Given the description of an element on the screen output the (x, y) to click on. 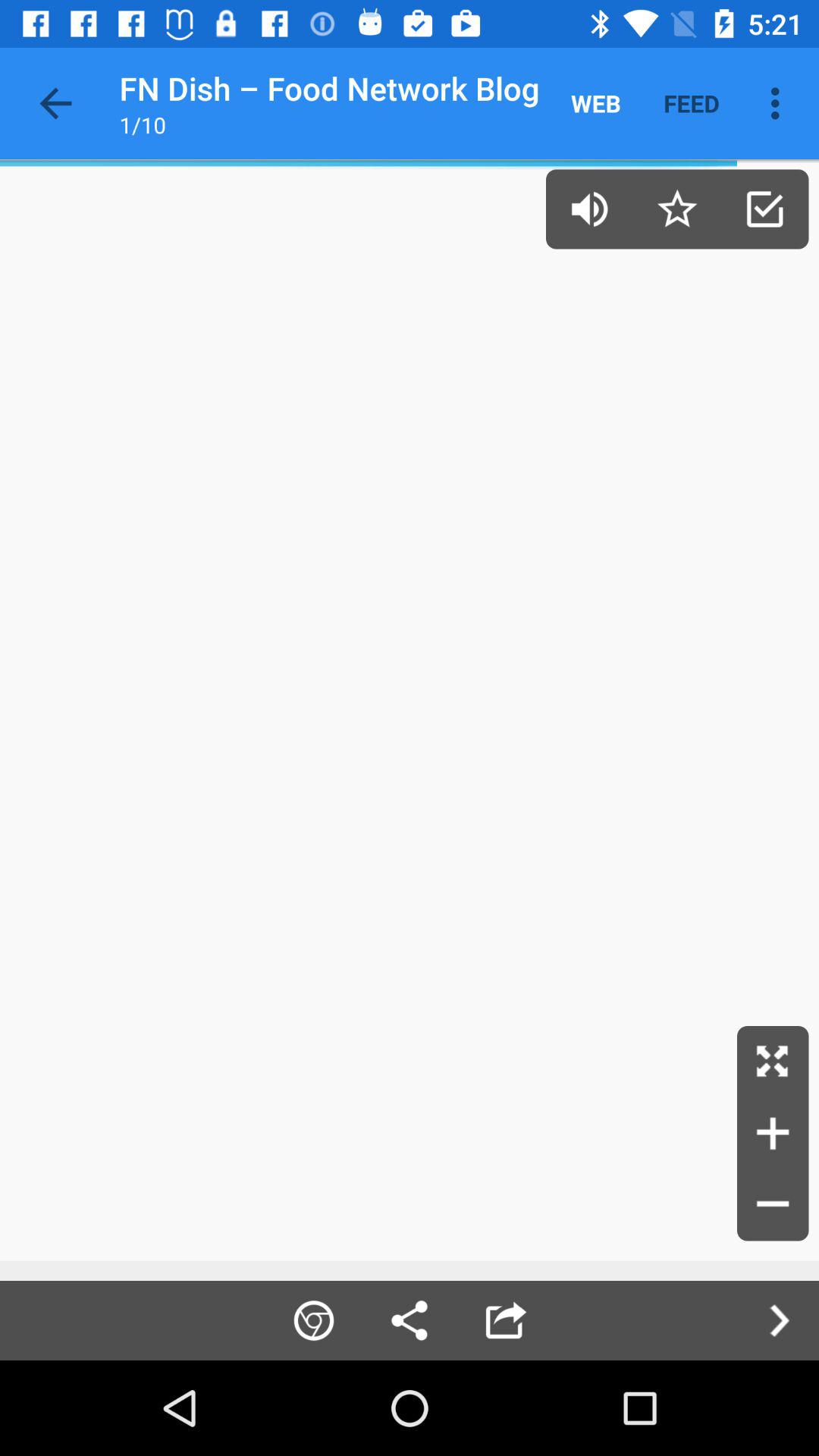
turn on icon to the right of the feed icon (779, 103)
